Given the description of an element on the screen output the (x, y) to click on. 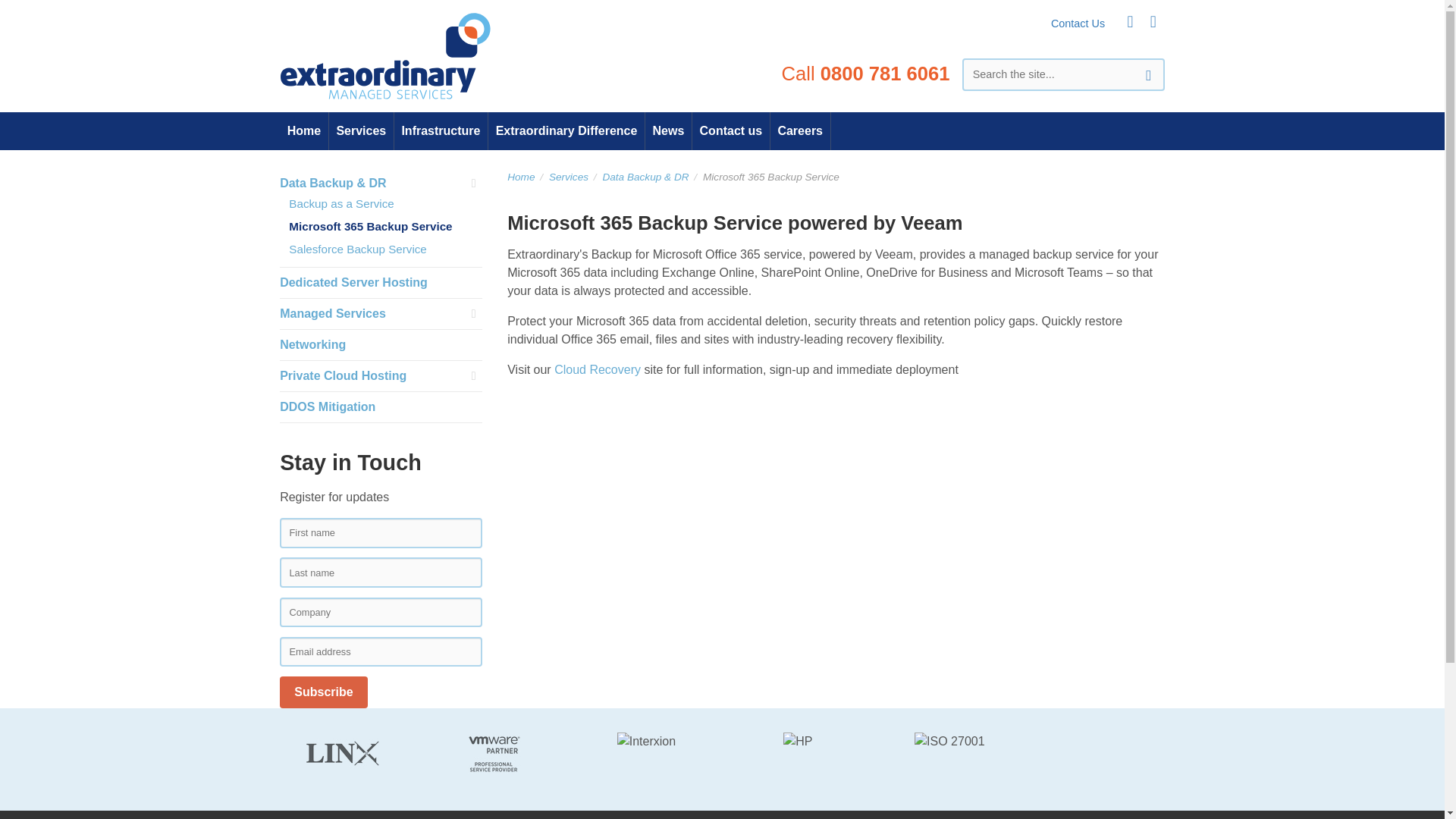
Home (524, 176)
Backup as a Service (340, 203)
Networking (312, 344)
Home (304, 130)
Dedicated Server Hosting (353, 282)
Services (572, 176)
Subscribe (323, 692)
Contact Us (1084, 23)
News (668, 130)
Services (572, 176)
